Given the description of an element on the screen output the (x, y) to click on. 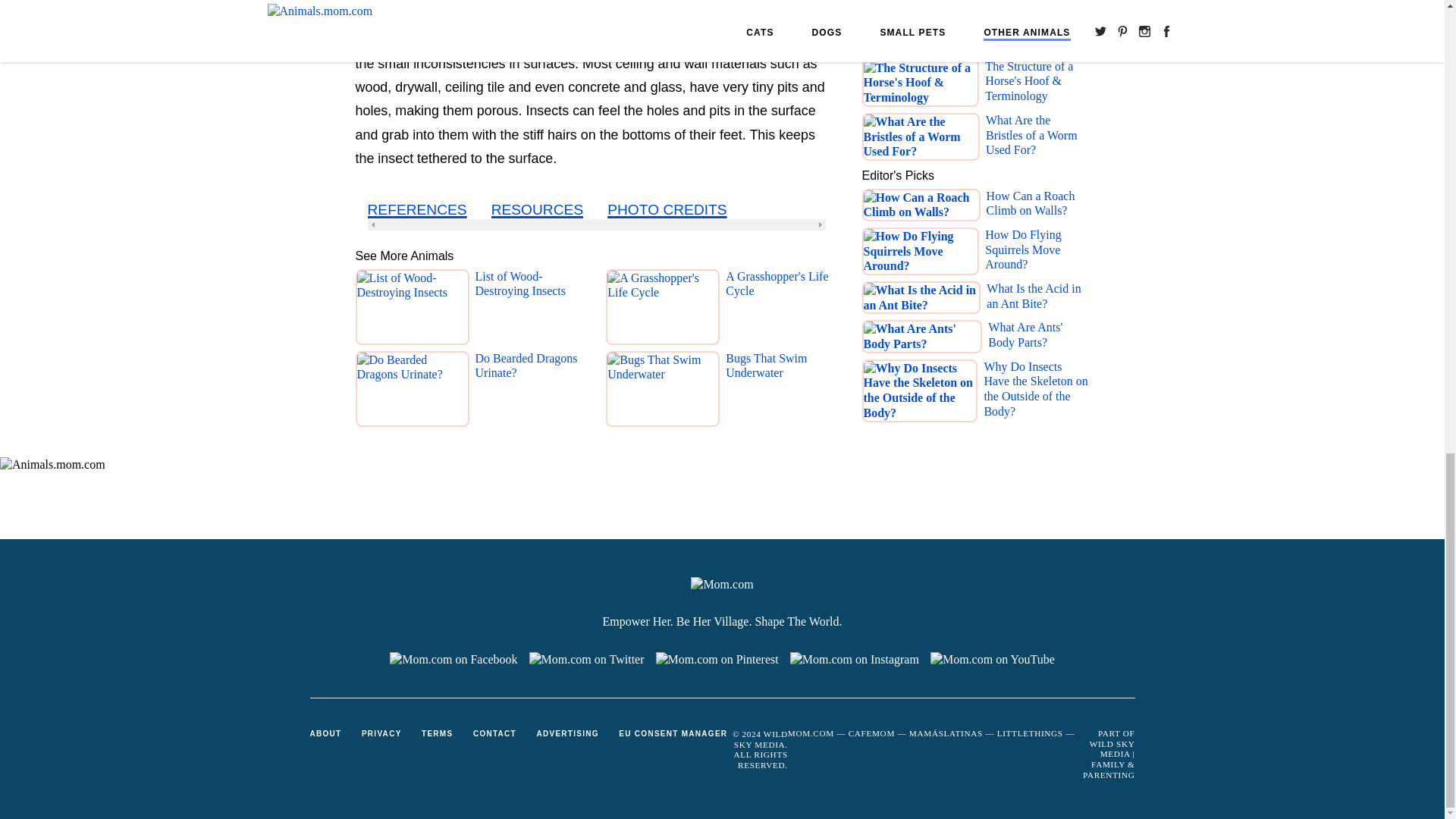
Do Bearded Dragons Urinate? (530, 392)
A Grasshopper's Life Cycle (781, 310)
Bugs That Swim Underwater (781, 392)
List of Wood-Destroying Insects (530, 310)
